Given the description of an element on the screen output the (x, y) to click on. 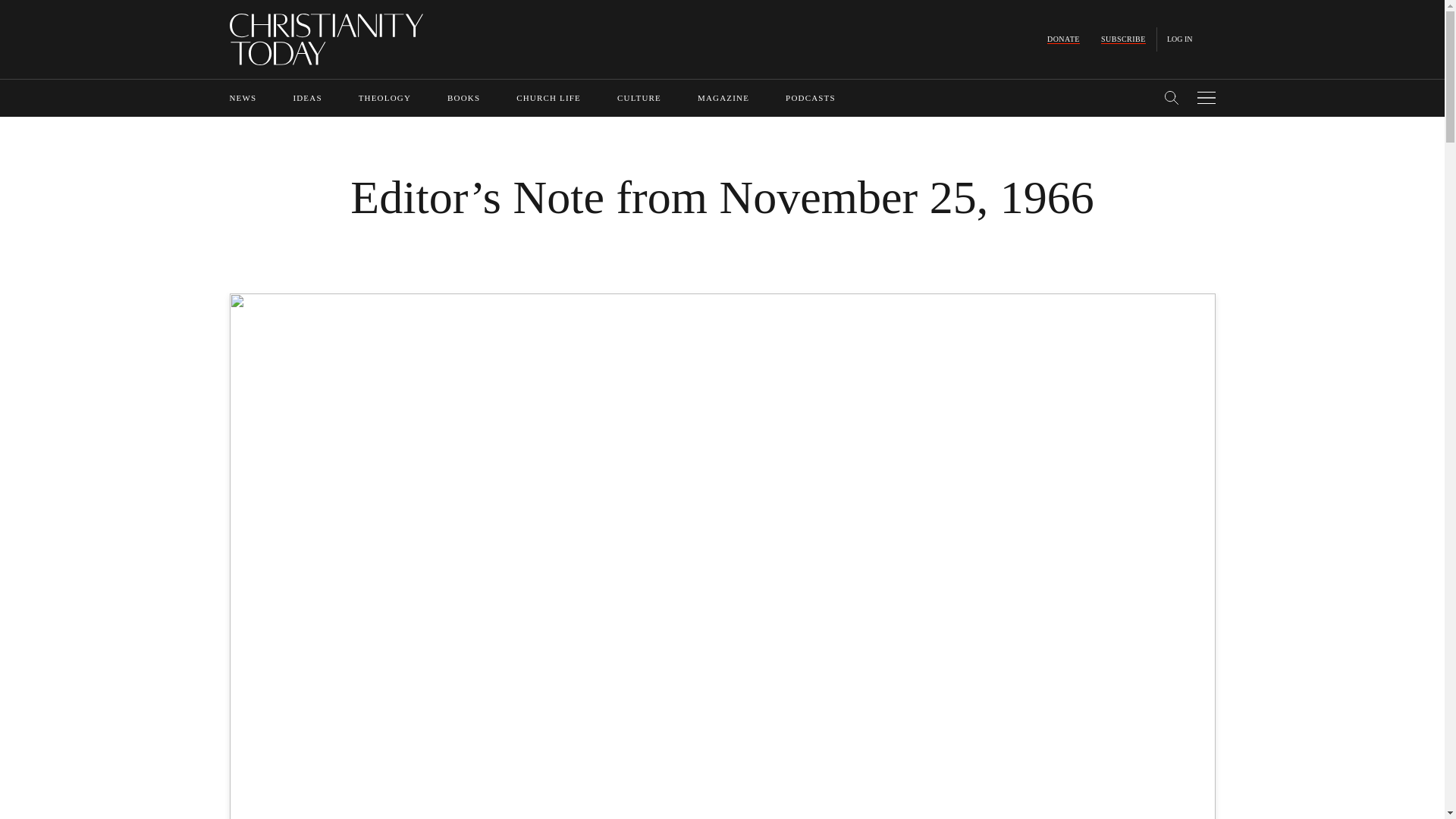
MAGAZINE (723, 97)
PODCASTS (810, 97)
THEOLOGY (384, 97)
SUBSCRIBE (1122, 39)
CULTURE (639, 97)
NEWS (242, 97)
BOOKS (463, 97)
LOG IN (1179, 39)
CHURCH LIFE (548, 97)
IDEAS (306, 97)
